Given the description of an element on the screen output the (x, y) to click on. 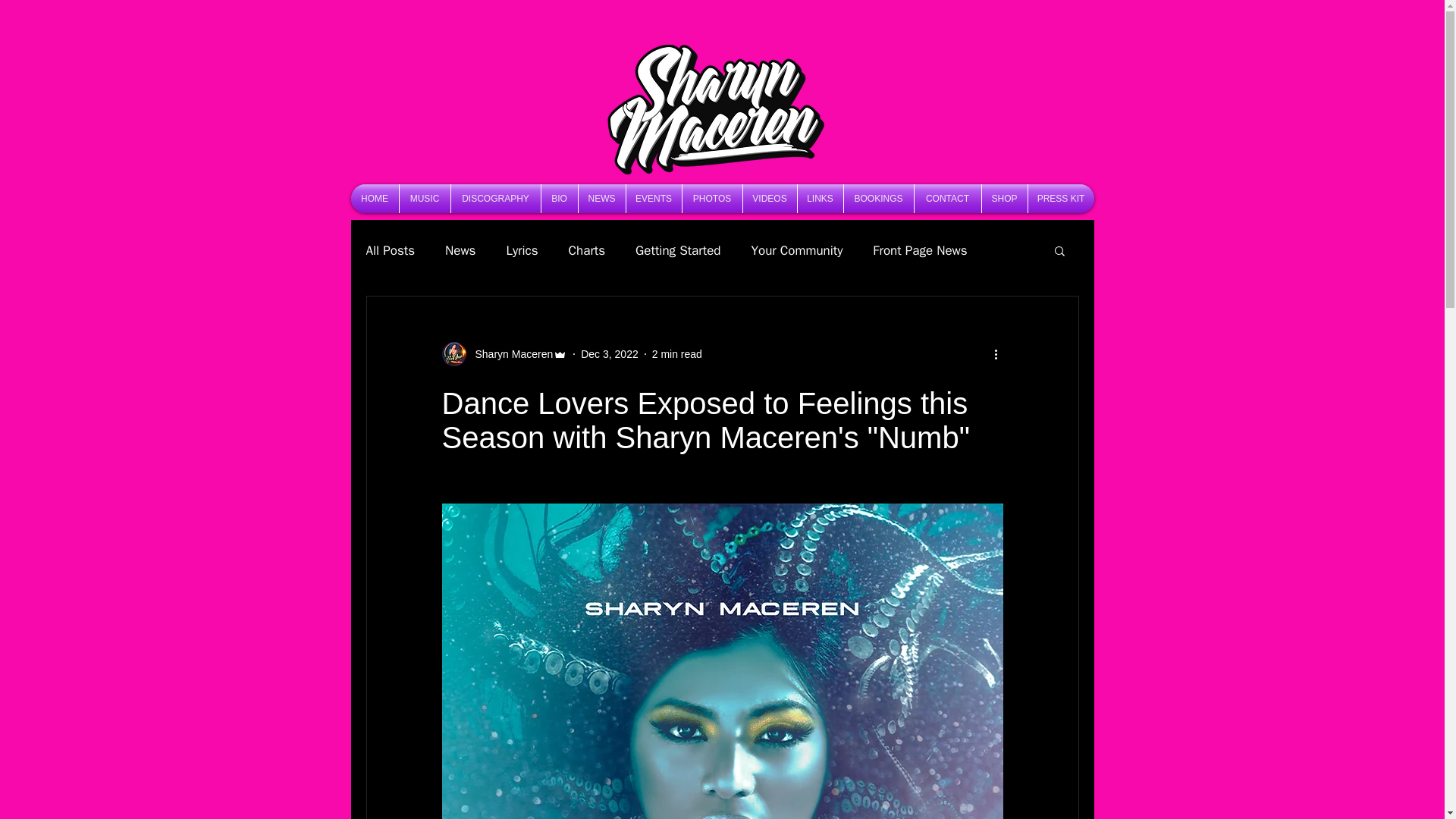
Your Community (797, 249)
BIO (559, 198)
SHOP (1003, 198)
HOME (373, 198)
MUSIC (423, 198)
BOOKINGS (877, 198)
All Posts (389, 249)
PRESS KIT (1060, 198)
EVENTS (653, 198)
PHOTOS (712, 198)
Sharyn Maceren (509, 353)
2 min read (676, 353)
NEWS (601, 198)
DISCOGRAPHY (494, 198)
News (460, 249)
